Given the description of an element on the screen output the (x, y) to click on. 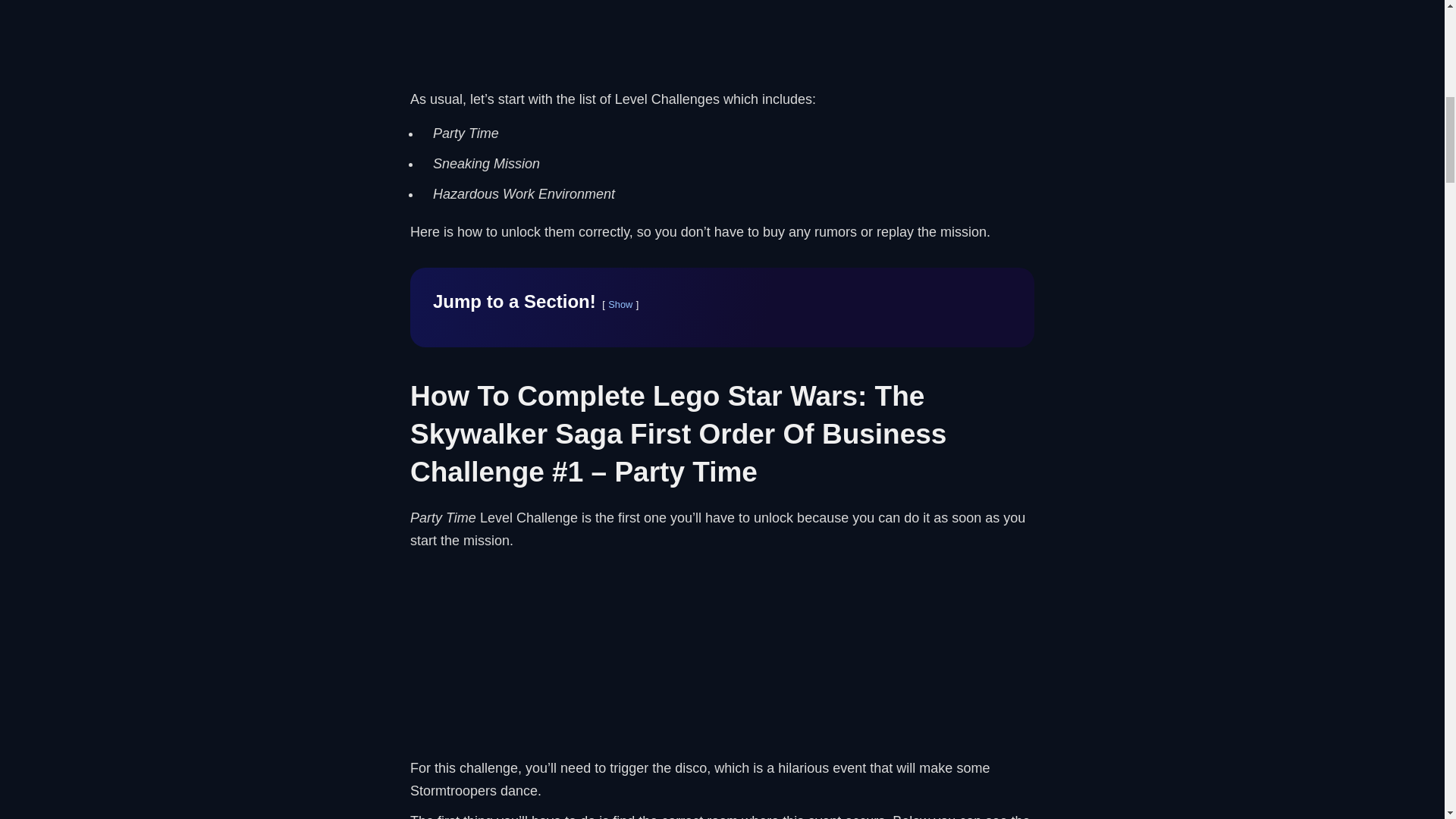
Show (619, 304)
